Given the description of an element on the screen output the (x, y) to click on. 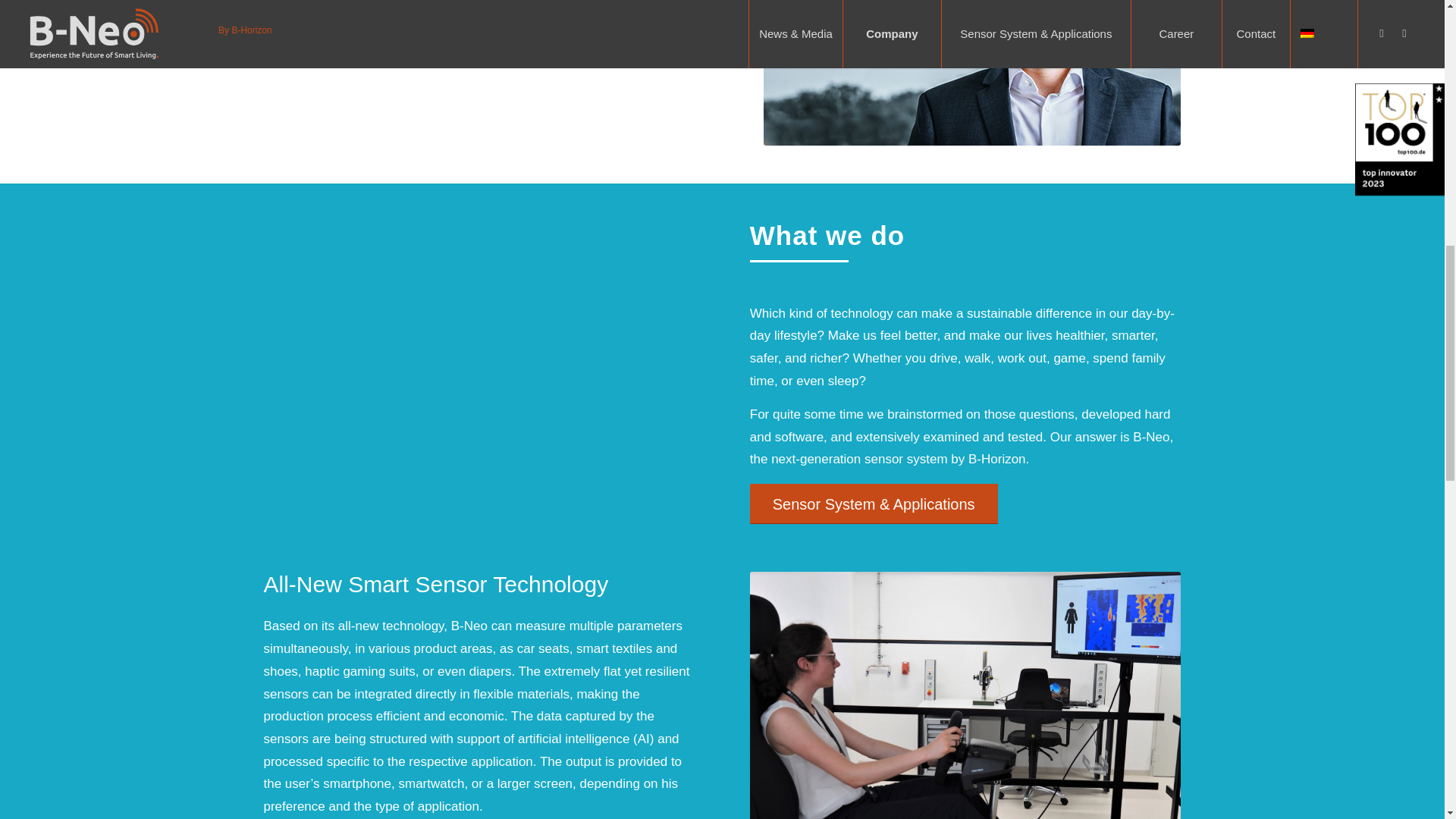
B-Neo Mohammad Kabany (971, 72)
B-Neo all-new smart sensor technology (964, 695)
